Given the description of an element on the screen output the (x, y) to click on. 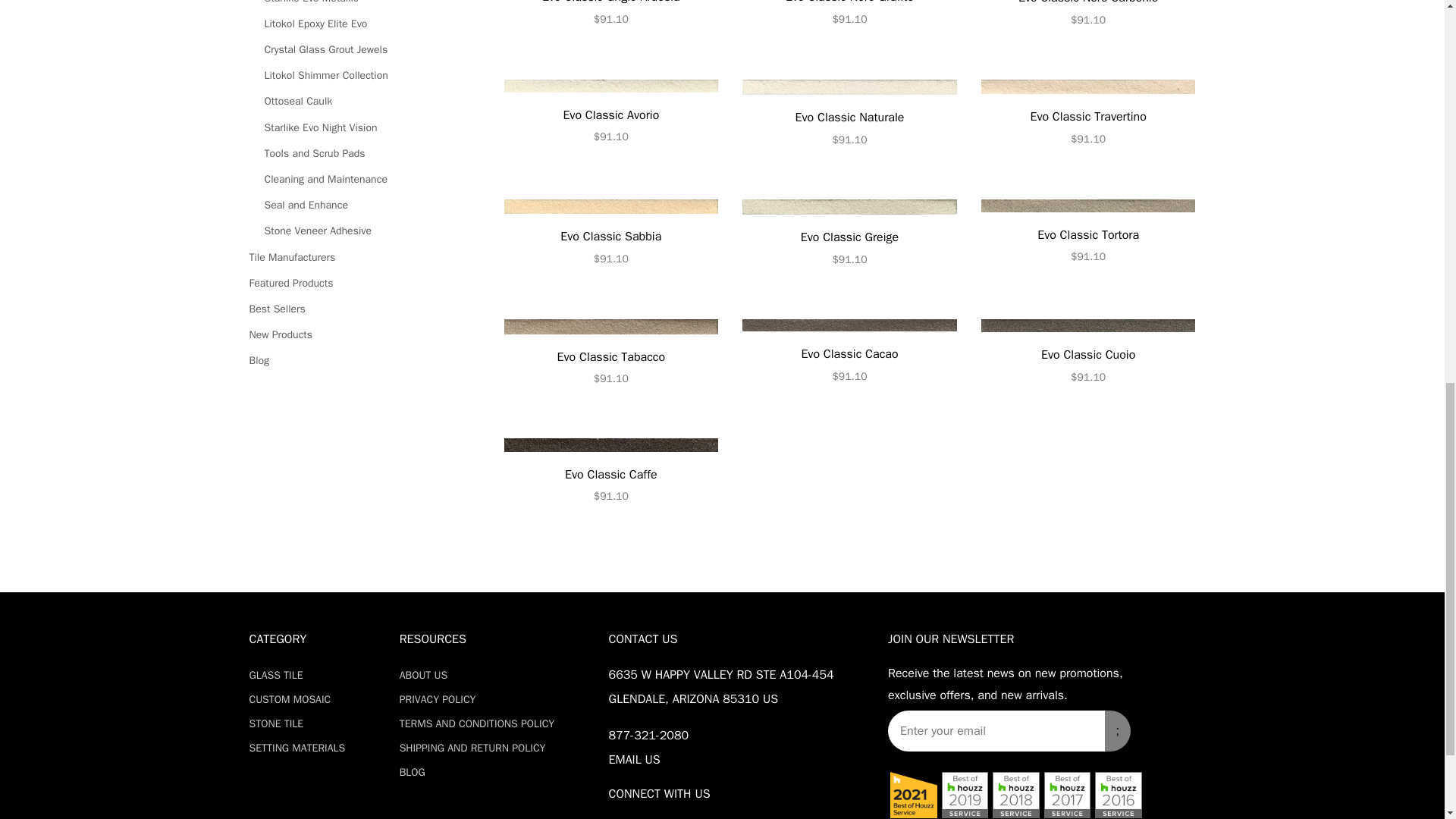
Evo Classic Nero Grafite (849, 14)
Evo Classic Nero Carbonio (1088, 15)
Evo Classic Grigio Ardesia (610, 14)
Evo Classic Avorio (610, 113)
